Given the description of an element on the screen output the (x, y) to click on. 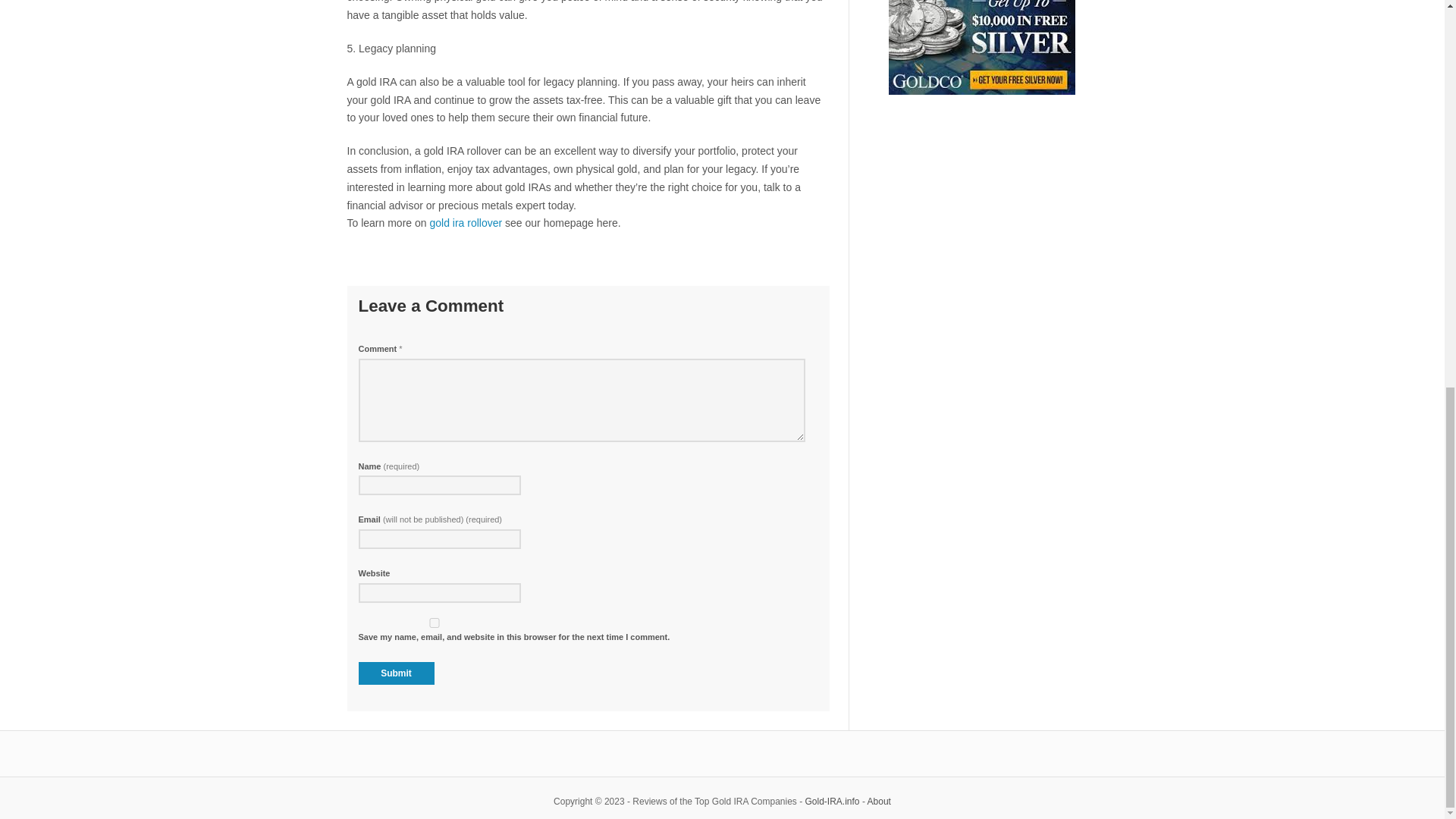
Submit (395, 672)
yes (433, 623)
Submit (395, 672)
About (879, 801)
Gold-IRA.info (832, 801)
gold ira rollover (465, 223)
